Given the description of an element on the screen output the (x, y) to click on. 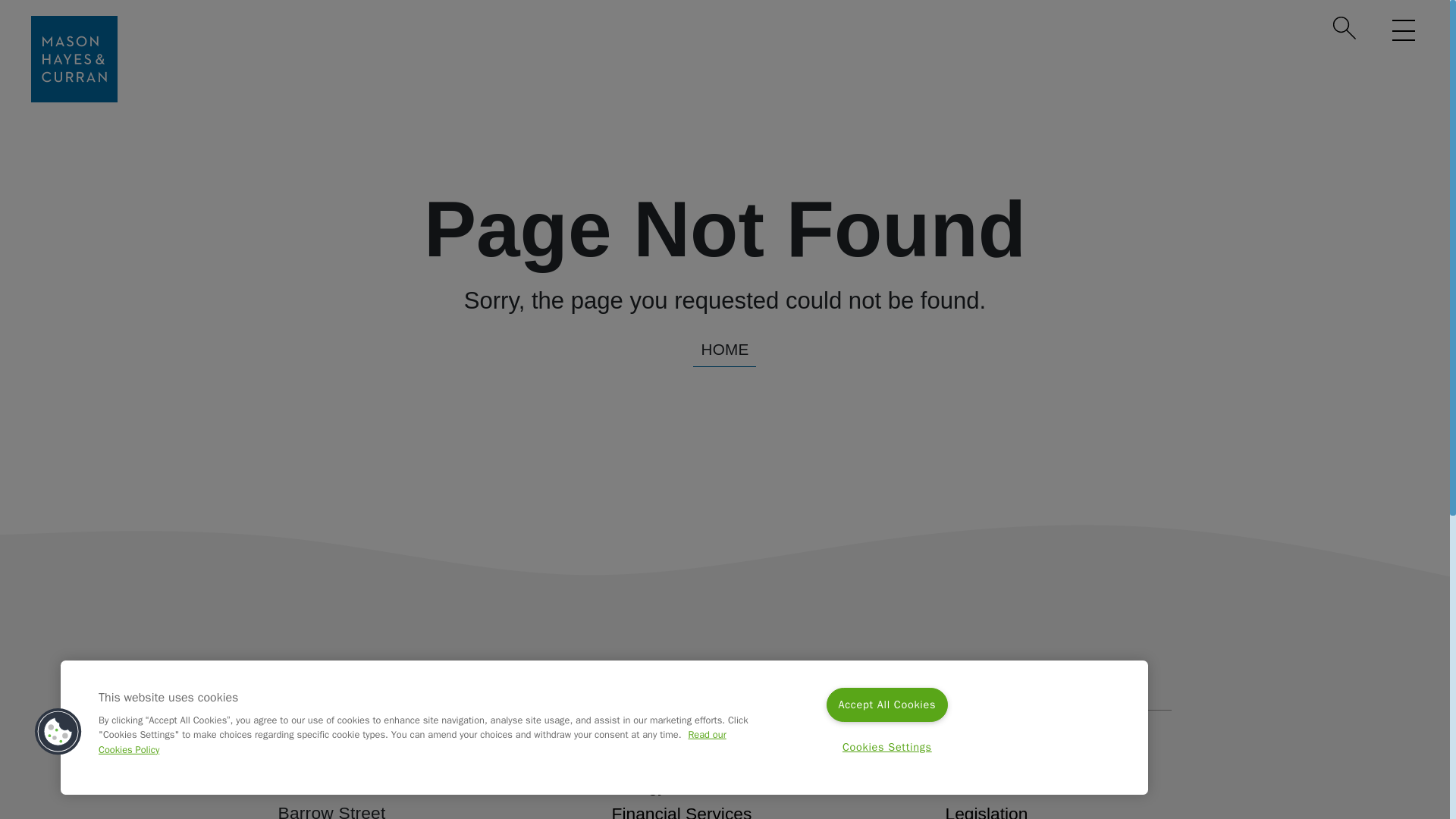
Cookies Button (57, 731)
HOME (724, 349)
DUBLIN (391, 743)
